Given the description of an element on the screen output the (x, y) to click on. 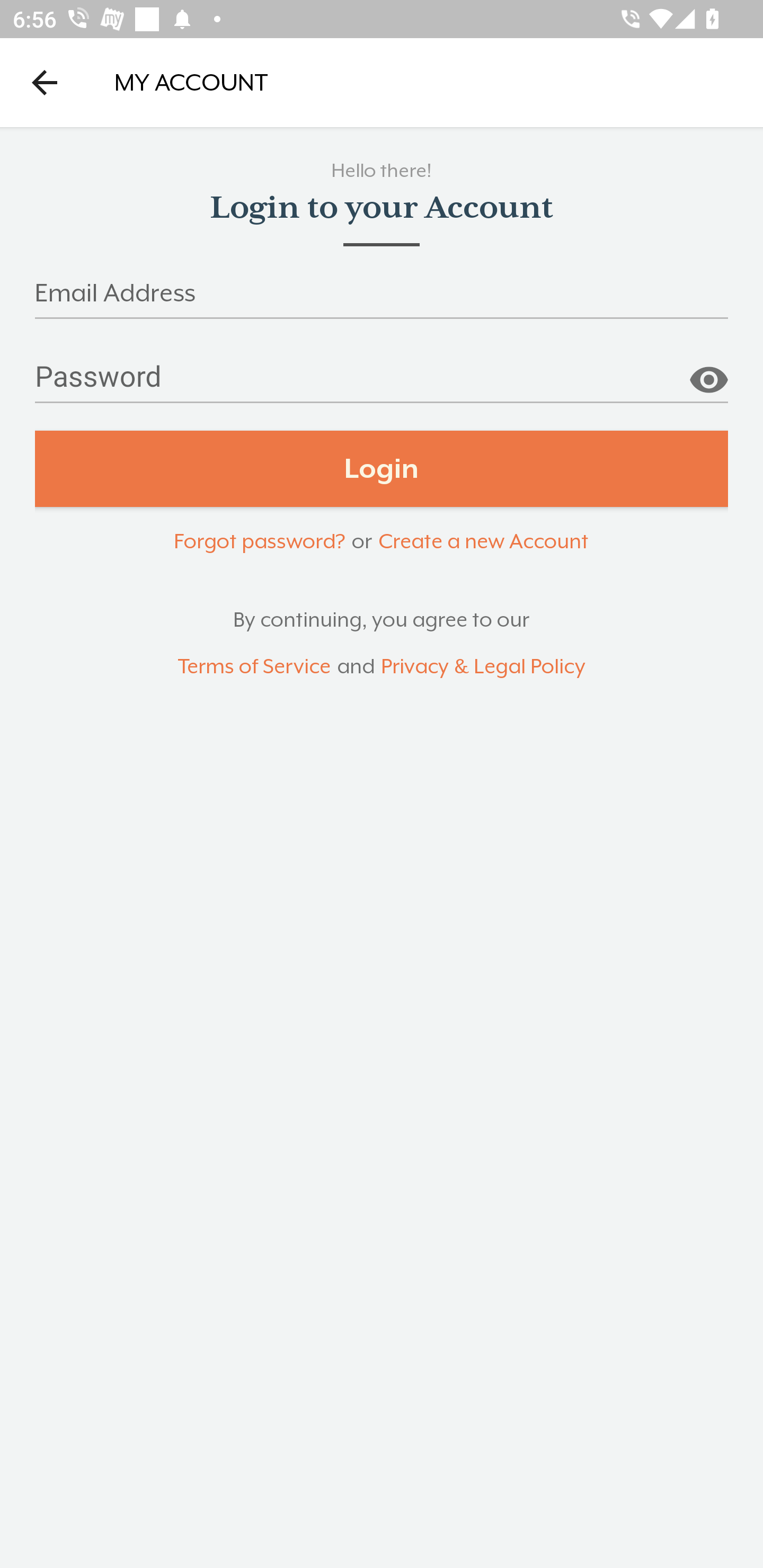
Navigate up (44, 82)
Email Address (381, 299)
 (708, 372)
Password (381, 383)
Login (381, 468)
Forgot password? (259, 540)
Create a new Account (483, 540)
Terms of Service (253, 666)
Privacy & Legal Policy (483, 666)
